Given the description of an element on the screen output the (x, y) to click on. 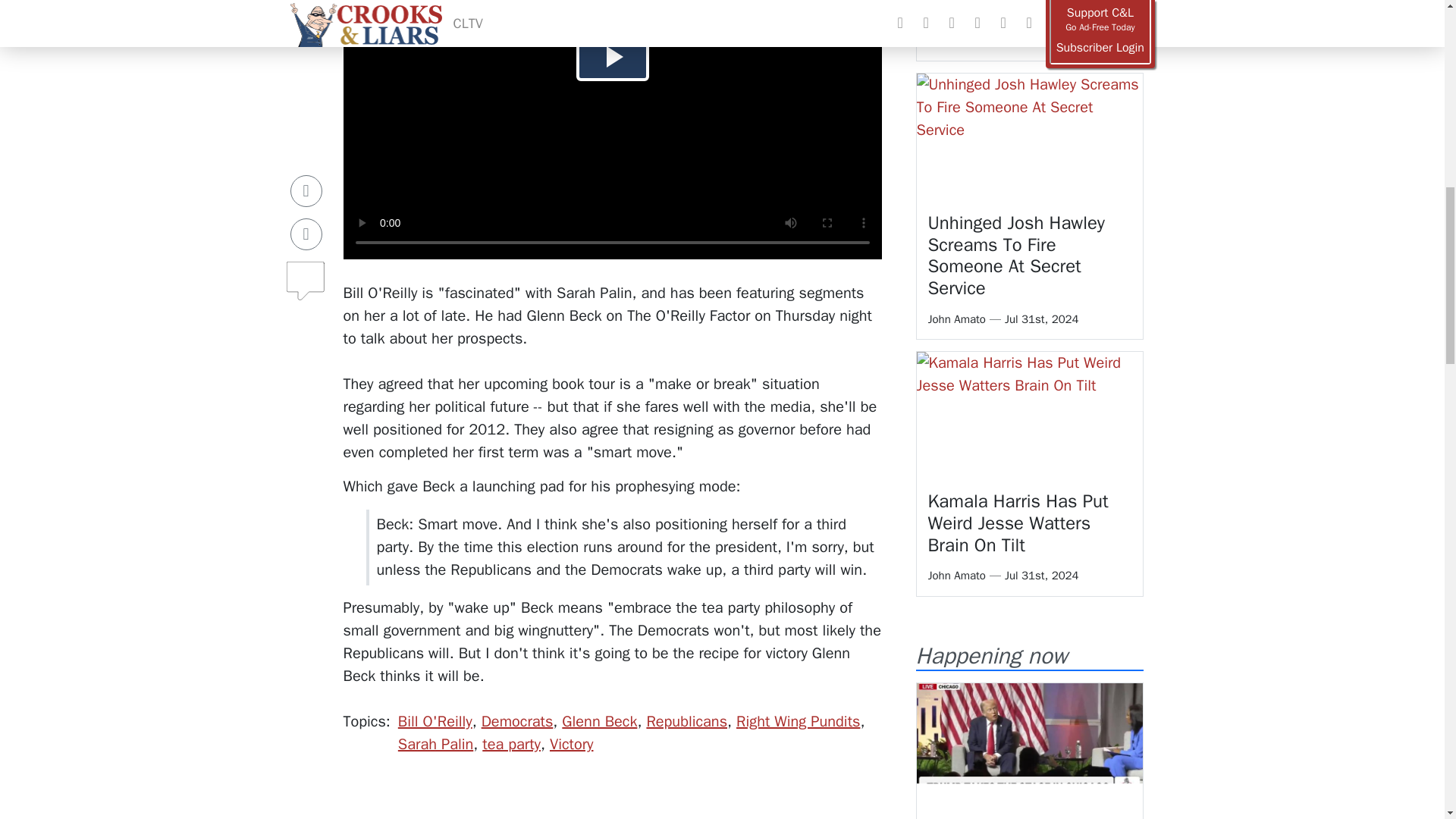
tea party (510, 743)
Sarah Palin (435, 743)
Democrats (517, 721)
Glenn Beck (599, 721)
Republicans (686, 721)
Right Wing Pundits (798, 721)
Bill O'Reilly (434, 721)
Victory (572, 743)
